Given the description of an element on the screen output the (x, y) to click on. 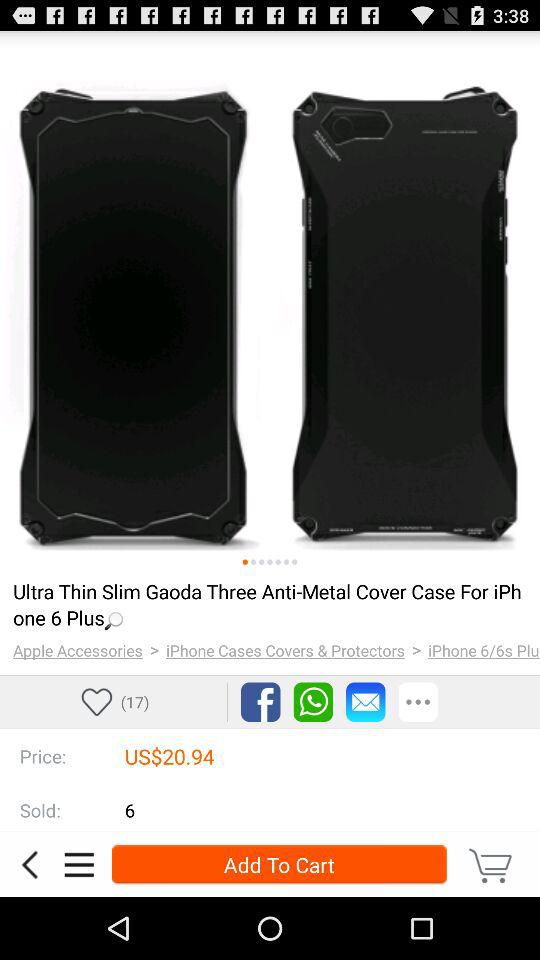
toggle image (294, 561)
